Given the description of an element on the screen output the (x, y) to click on. 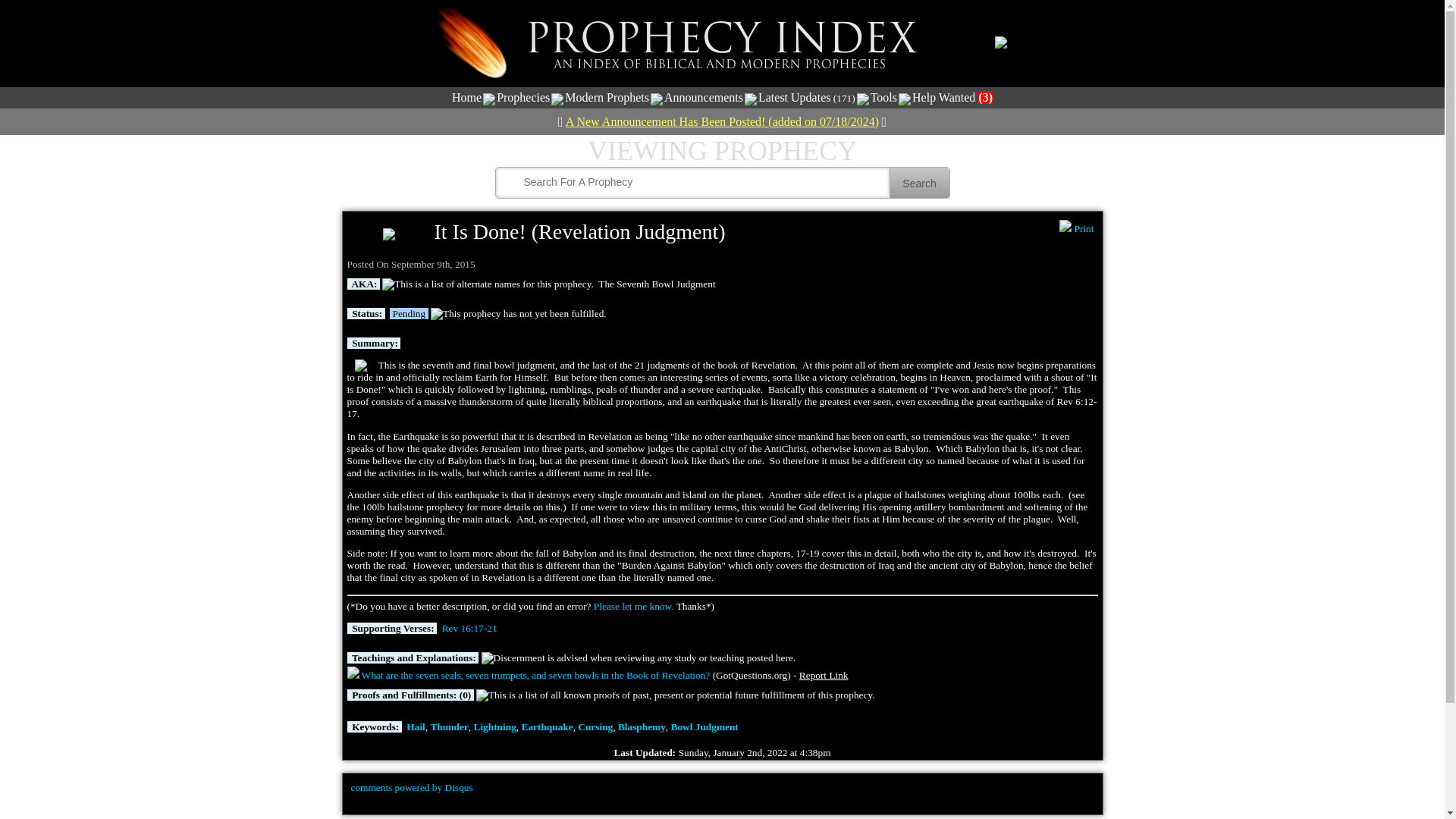
Rev 16:17-21 (469, 627)
comments powered by Disqus (410, 787)
Search (918, 182)
This is a list of alternate names for this prophecy. (487, 284)
Cursing (595, 726)
Tools (883, 97)
Please let me know. (634, 605)
Home (466, 97)
This prophecy has not yet been fulfilled. (518, 313)
Modern Prophets (606, 97)
Print (1076, 228)
Bowl Judgment (704, 726)
Earthquake (547, 726)
